Given the description of an element on the screen output the (x, y) to click on. 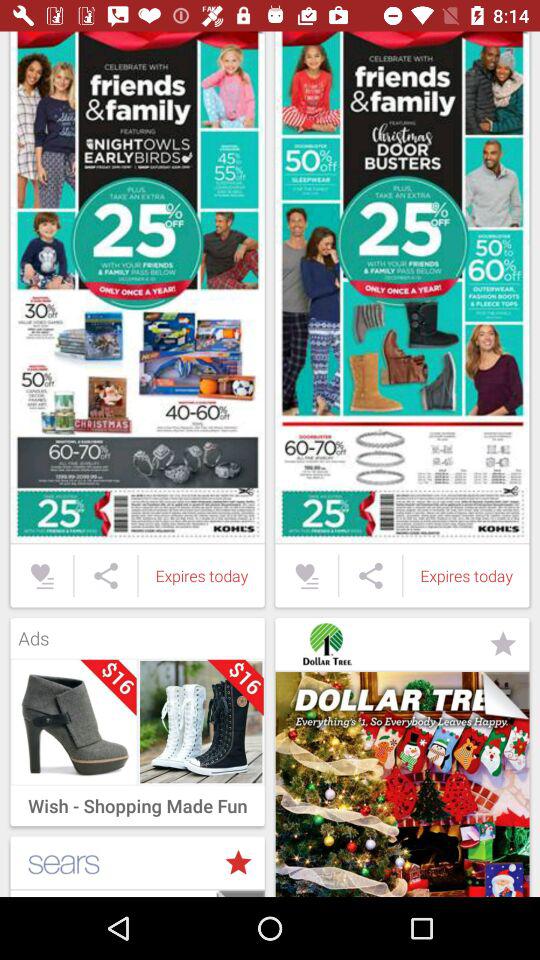
turn off the ads (137, 633)
